Given the description of an element on the screen output the (x, y) to click on. 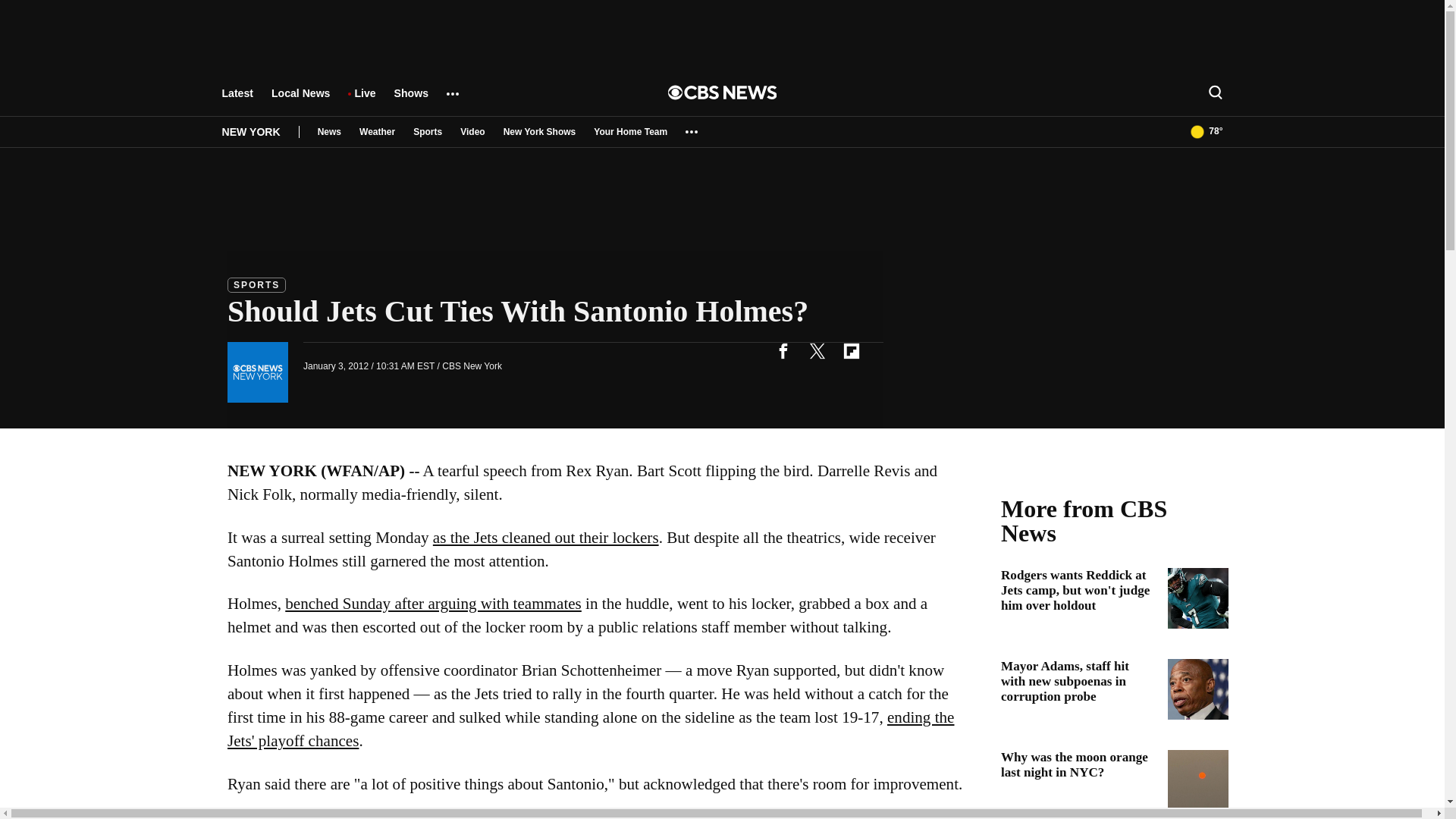
Local News (300, 100)
Latest (236, 100)
flipboard (850, 350)
facebook (782, 350)
twitter (816, 350)
